Given the description of an element on the screen output the (x, y) to click on. 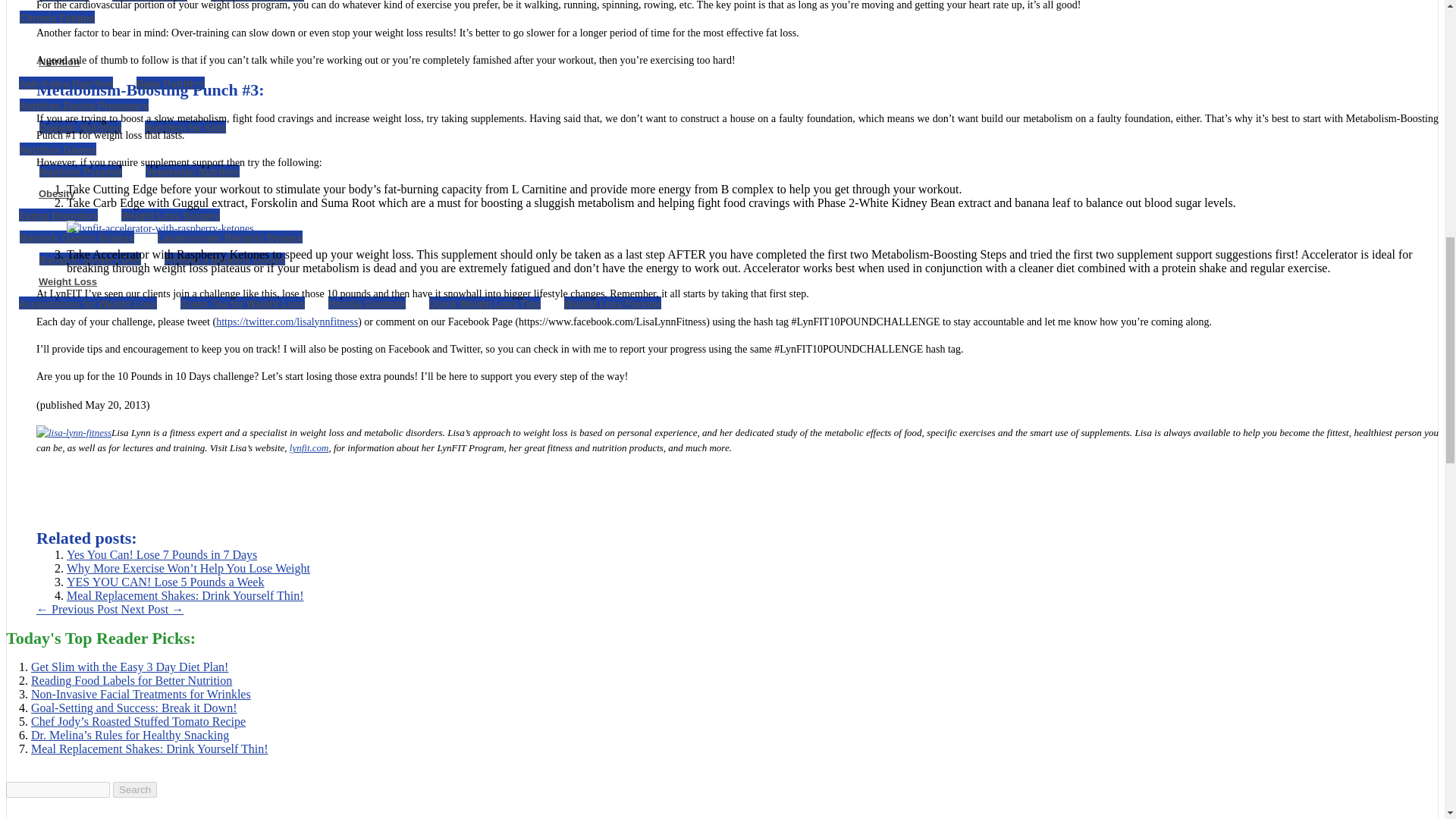
YES YOU CAN! Lose 5 Pounds a Week (164, 581)
Yes You Can! Lose 7 Pounds in 7 Days (161, 554)
Search (135, 789)
Meal Replacement Shakes: Drink Yourself Thin! (185, 594)
LynFIT Accelerator with Raspberry Ketones (159, 228)
